Given the description of an element on the screen output the (x, y) to click on. 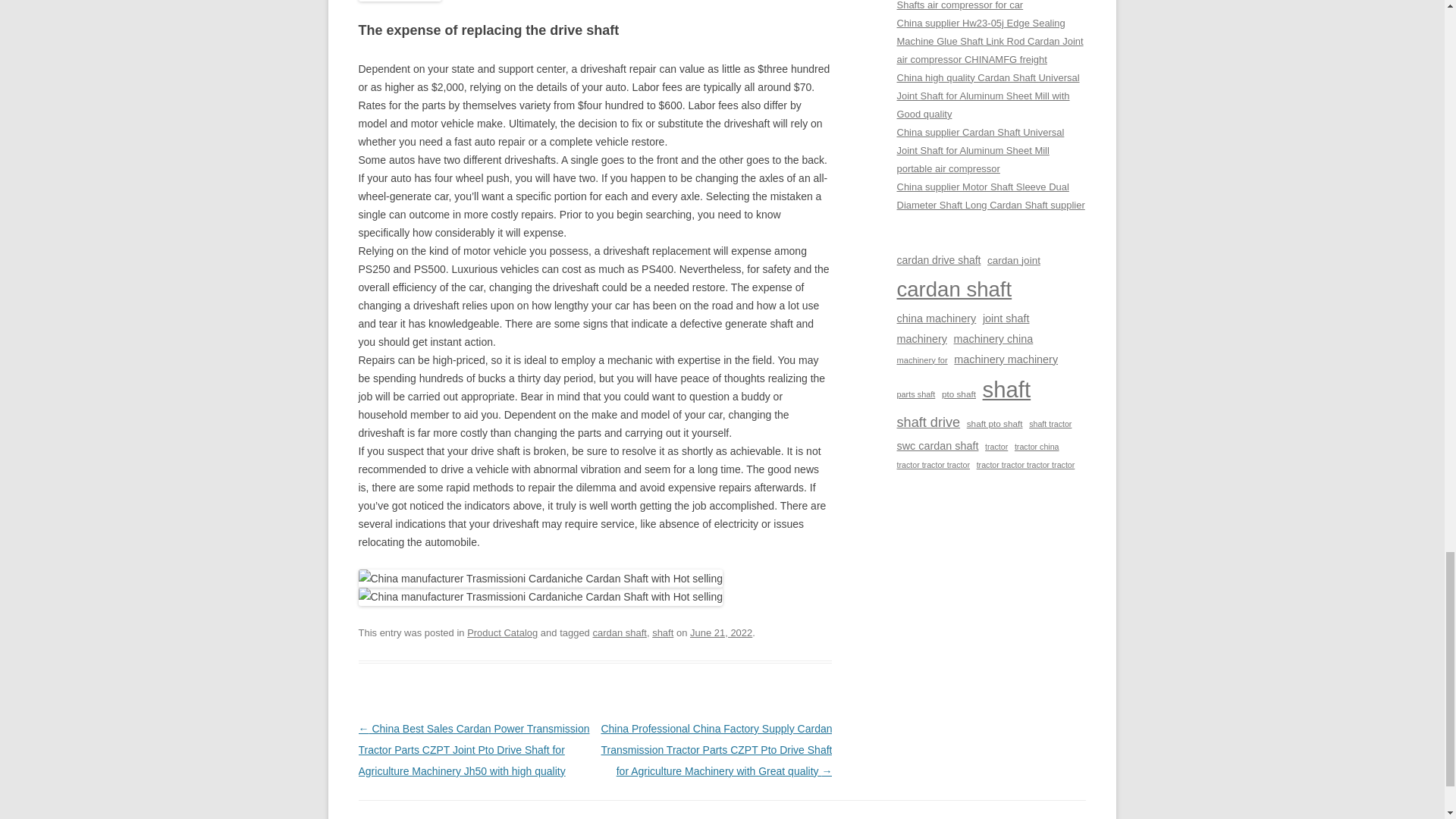
June 21, 2022 (721, 632)
cardan shaft (619, 632)
6:13 pm (721, 632)
Product Catalog (502, 632)
shaft (662, 632)
